Given the description of an element on the screen output the (x, y) to click on. 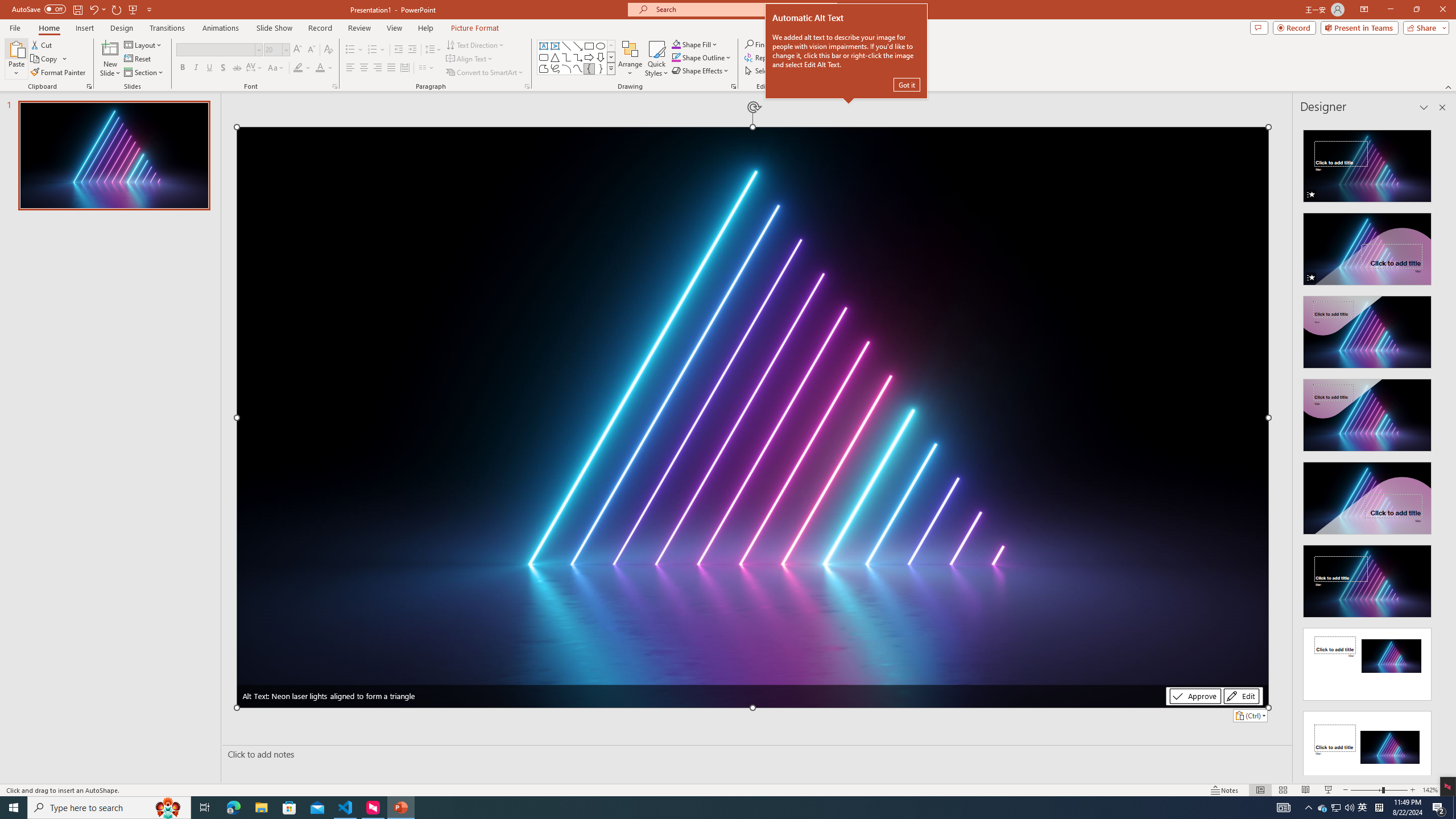
Picture Format (475, 28)
Action: Paste alternatives (1250, 715)
